Given the description of an element on the screen output the (x, y) to click on. 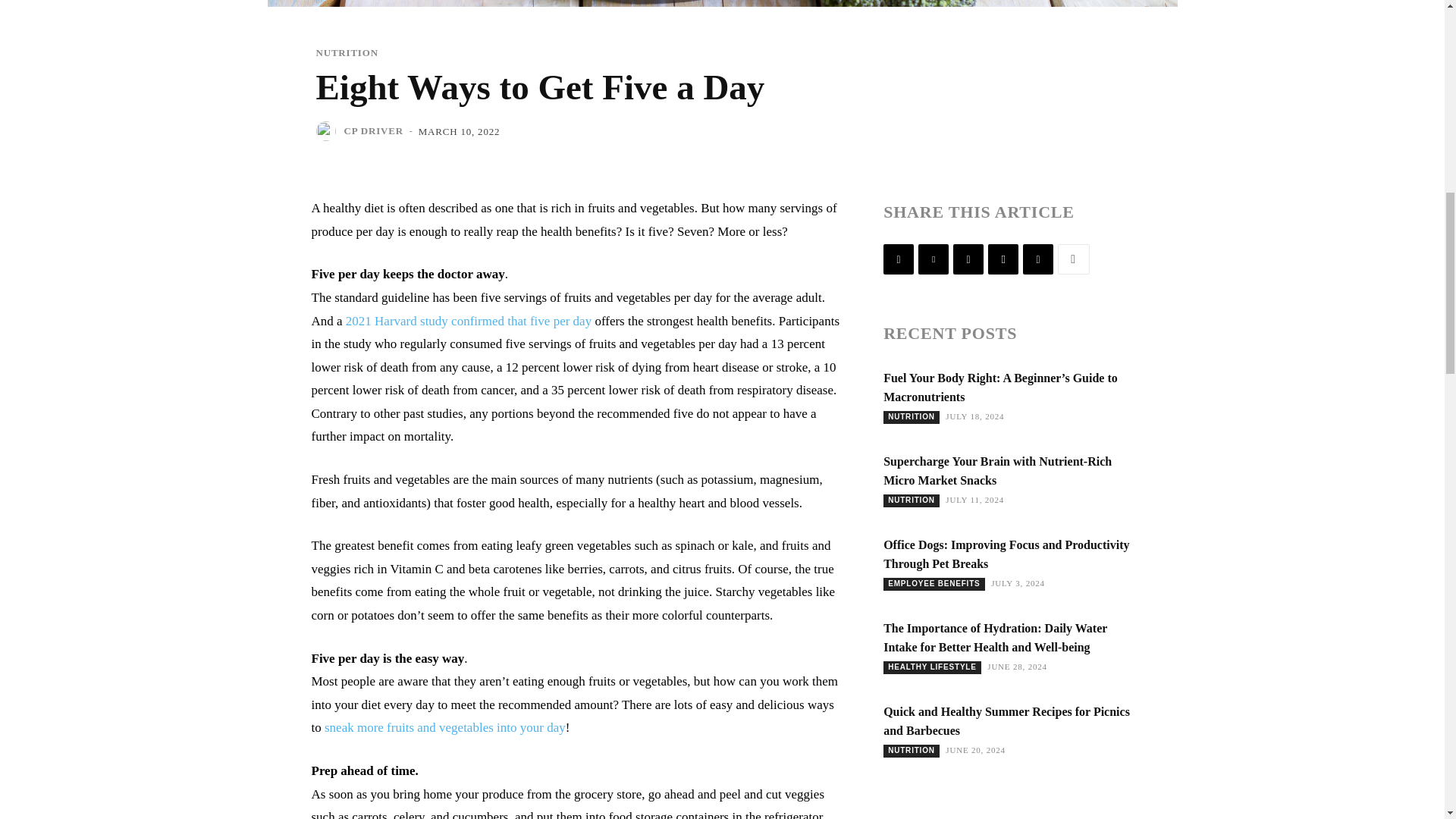
NUTRITION (346, 52)
Quick and Healthy Summer Recipes for Picnics and Barbecues (1006, 721)
2021 Harvard study confirmed that five per day (468, 320)
sneak more fruits and vegetables into your day (445, 727)
CP DRIVER (373, 130)
